Given the description of an element on the screen output the (x, y) to click on. 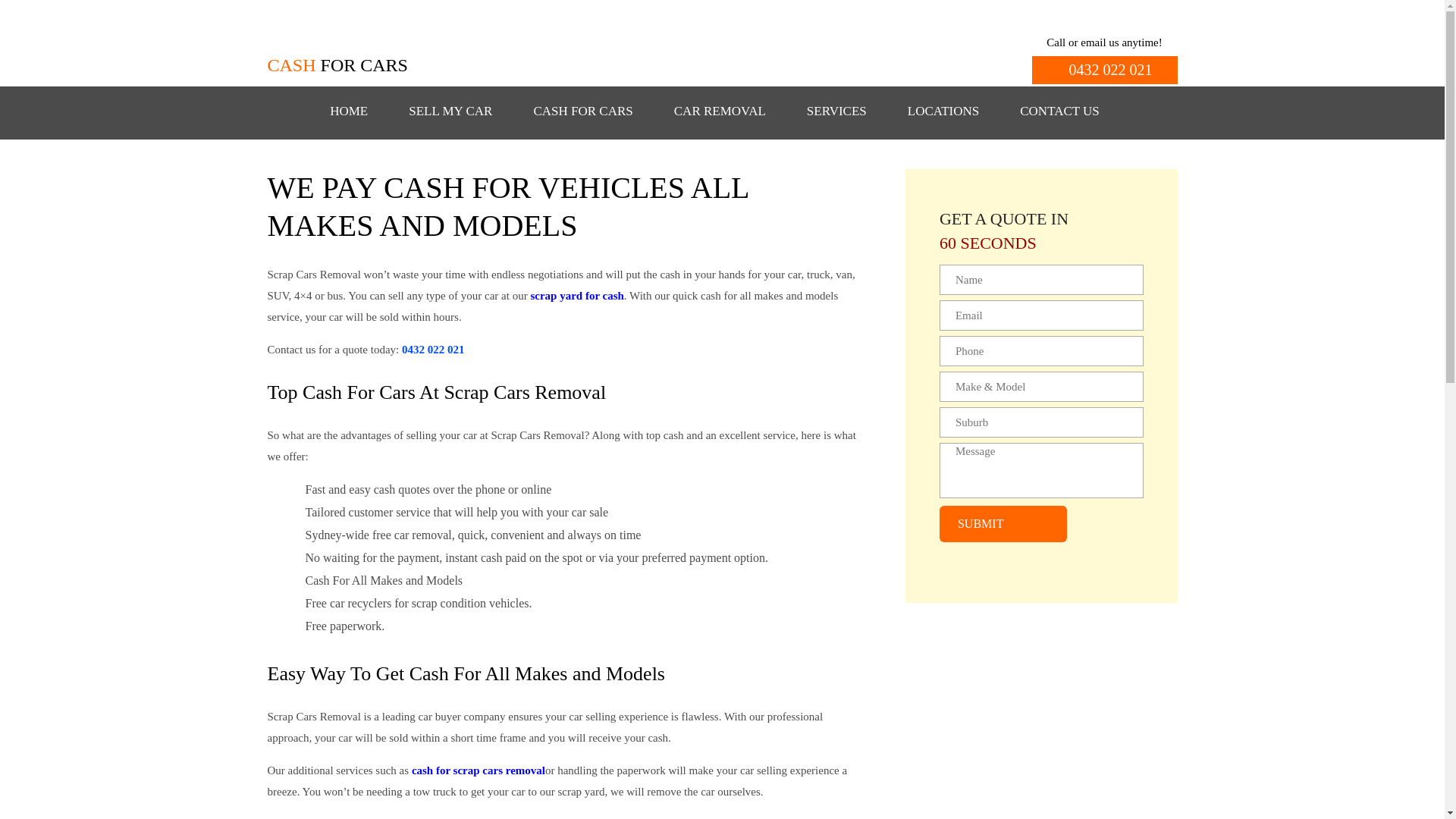
CASH FOR CARS (582, 111)
Sell My Car (450, 111)
Cash For Cars (341, 49)
0432 022 021 (1103, 70)
HOME (348, 111)
SELL MY CAR (450, 111)
LOCATIONS (943, 111)
SERVICES (835, 111)
0432 022 021 (1103, 70)
Car Removal Sydney (719, 111)
CAR REMOVAL (719, 111)
submit (1003, 524)
